Given the description of an element on the screen output the (x, y) to click on. 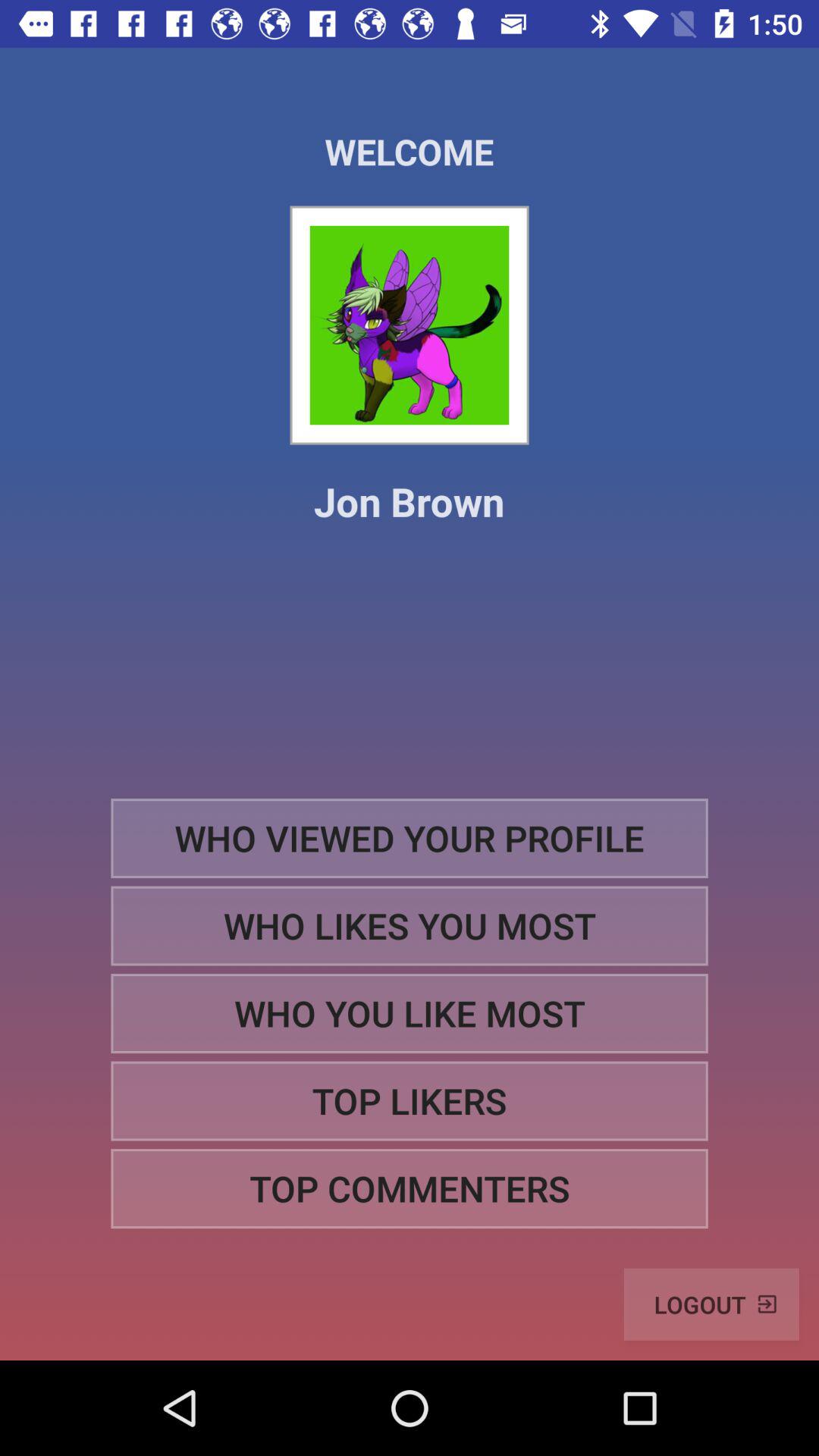
scroll until the who viewed your (409, 838)
